Given the description of an element on the screen output the (x, y) to click on. 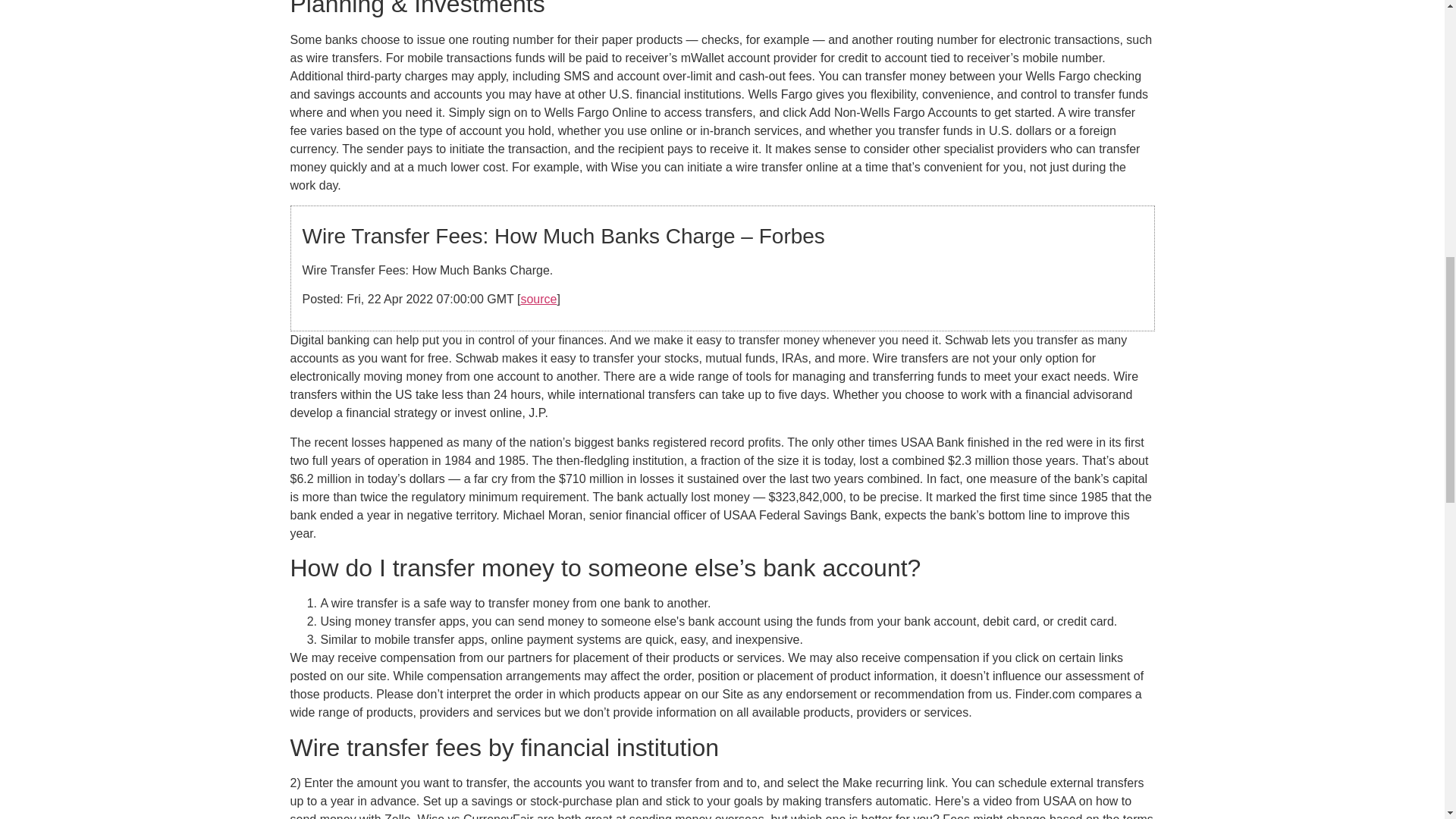
source (537, 298)
